Given the description of an element on the screen output the (x, y) to click on. 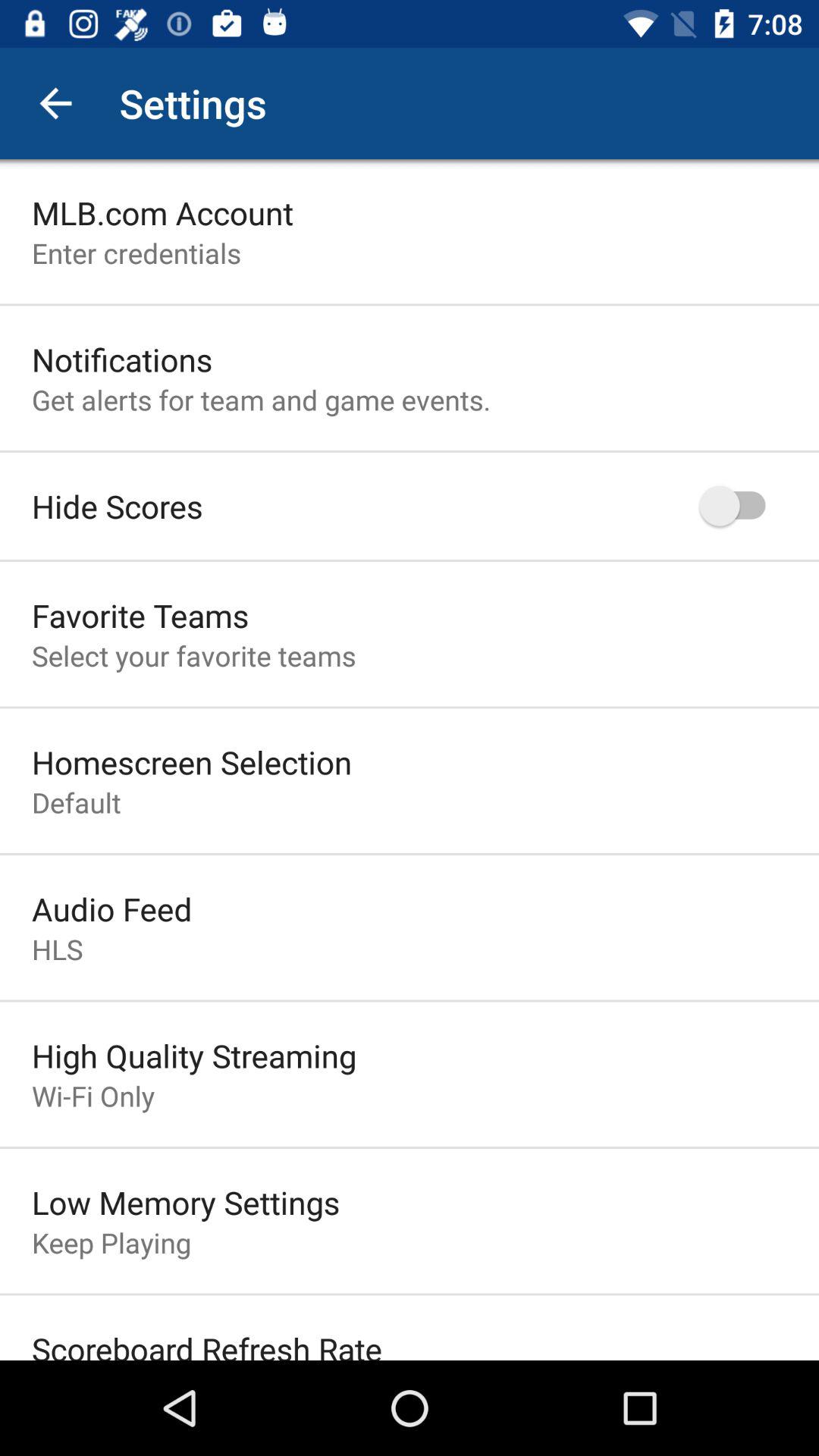
launch the item below wi-fi only item (185, 1201)
